Given the description of an element on the screen output the (x, y) to click on. 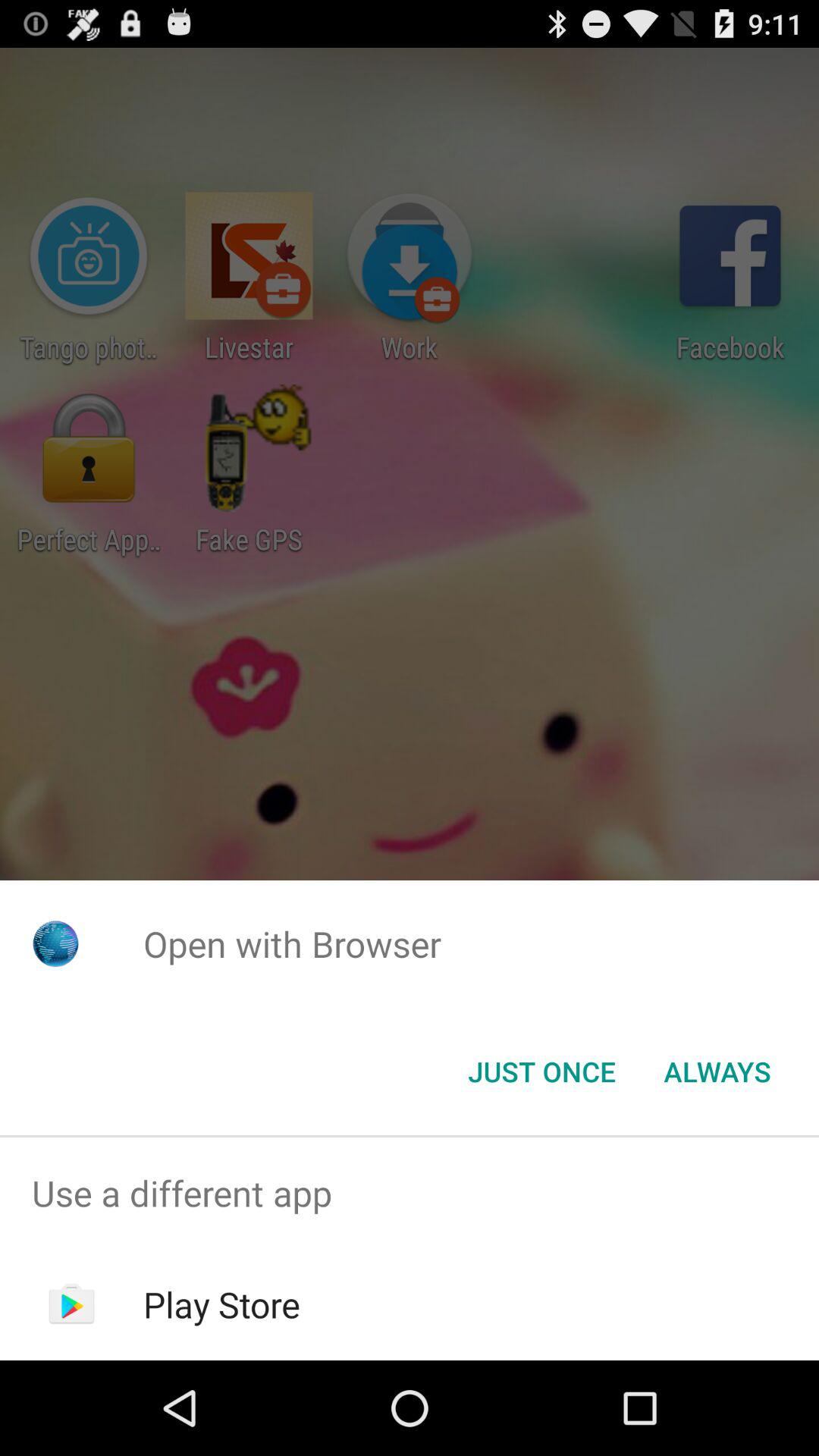
launch button to the right of just once (717, 1071)
